Given the description of an element on the screen output the (x, y) to click on. 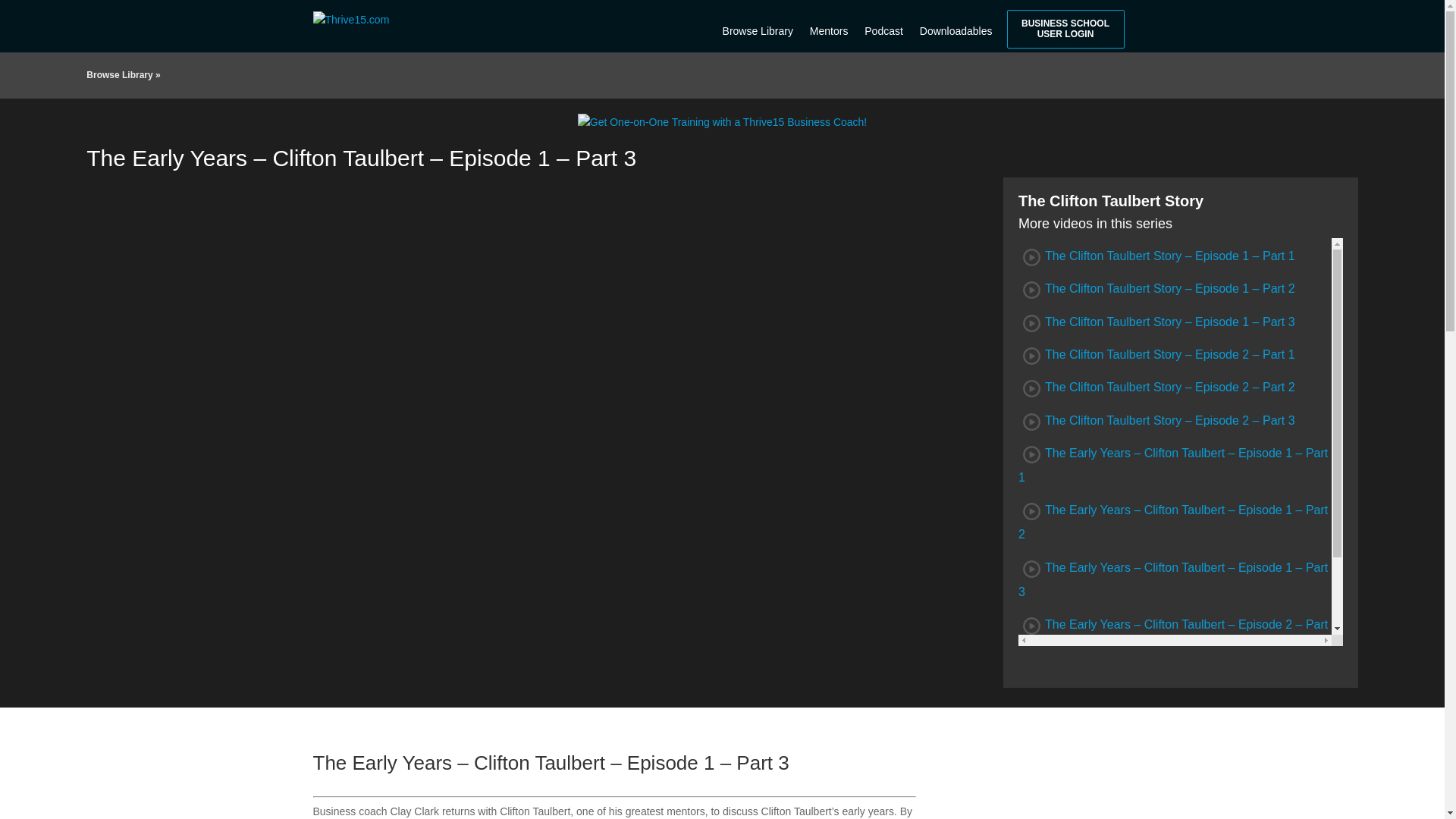
Browse Library (118, 74)
Mentors (829, 24)
Browse Library (757, 24)
Podcast (883, 24)
BUSINESS SCHOOL USER LOGIN (1065, 28)
Submit (616, 805)
Submit (588, 720)
Downloadables (955, 24)
